Given the description of an element on the screen output the (x, y) to click on. 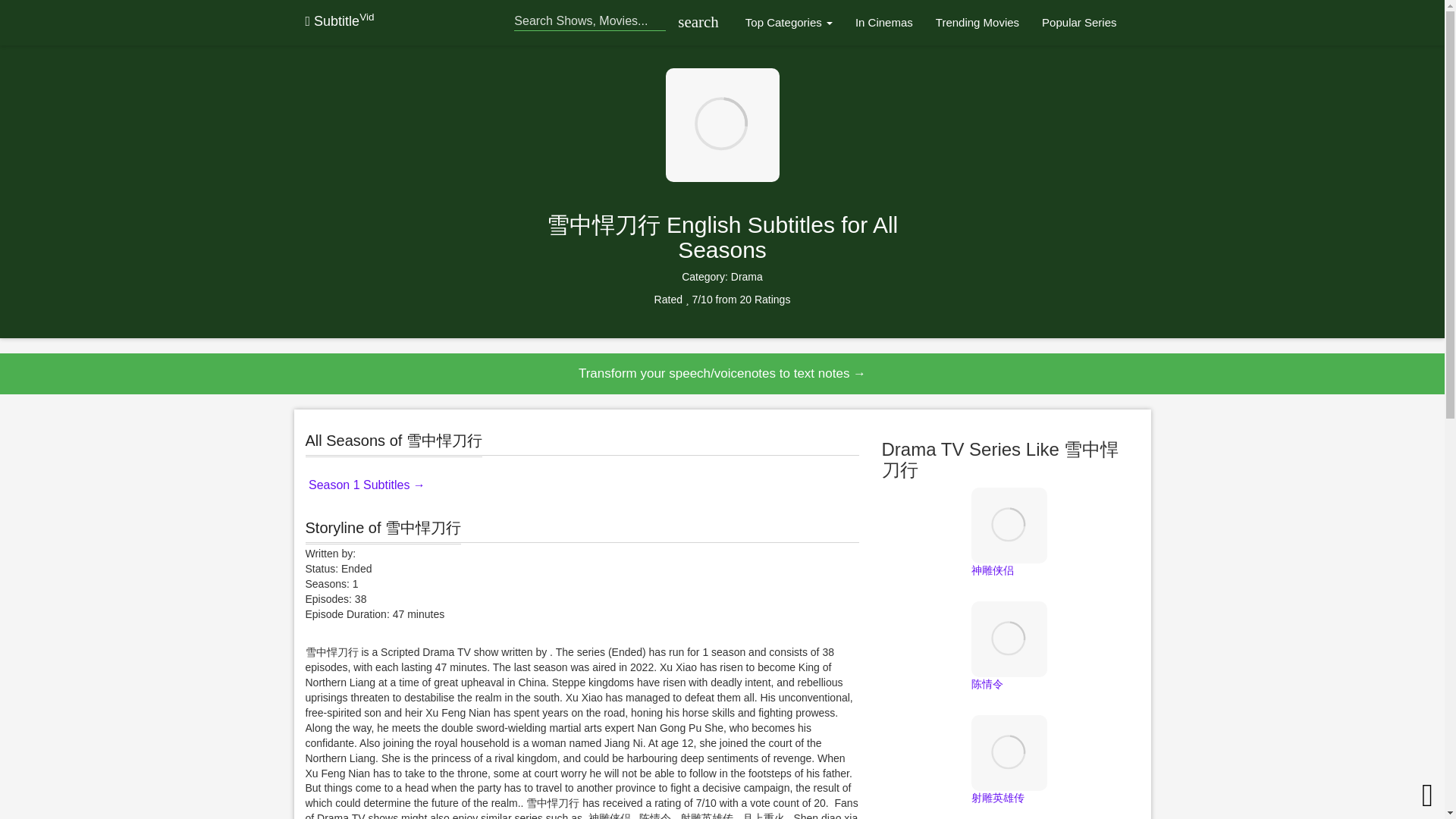
SubtitleVid (339, 20)
In Cinemas (884, 22)
Popular Series (1078, 22)
Top Categories (788, 22)
Trending Movies (977, 22)
search (695, 22)
